Given the description of an element on the screen output the (x, y) to click on. 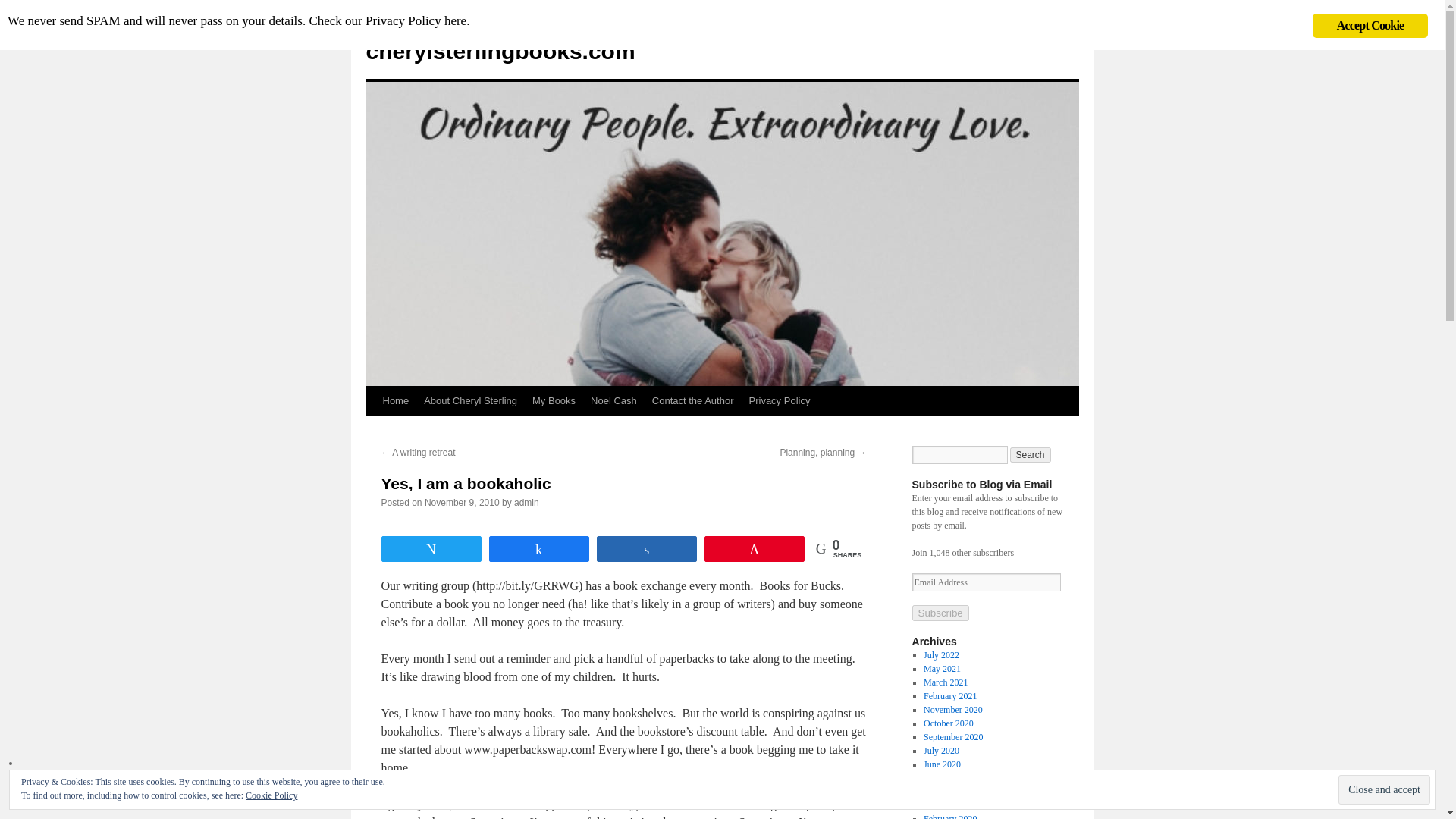
Noel Cash (614, 400)
Search (1030, 454)
My Books (553, 400)
View all posts by admin (525, 502)
Privacy Policy (779, 400)
cherylsterlingbooks.com (499, 50)
Home (395, 400)
About Cheryl Sterling (470, 400)
cherylsterlingbooks.com (499, 50)
8:03 pm (462, 502)
November 9, 2010 (462, 502)
admin (525, 502)
Close and accept (1383, 789)
Contact the Author (693, 400)
